Given the description of an element on the screen output the (x, y) to click on. 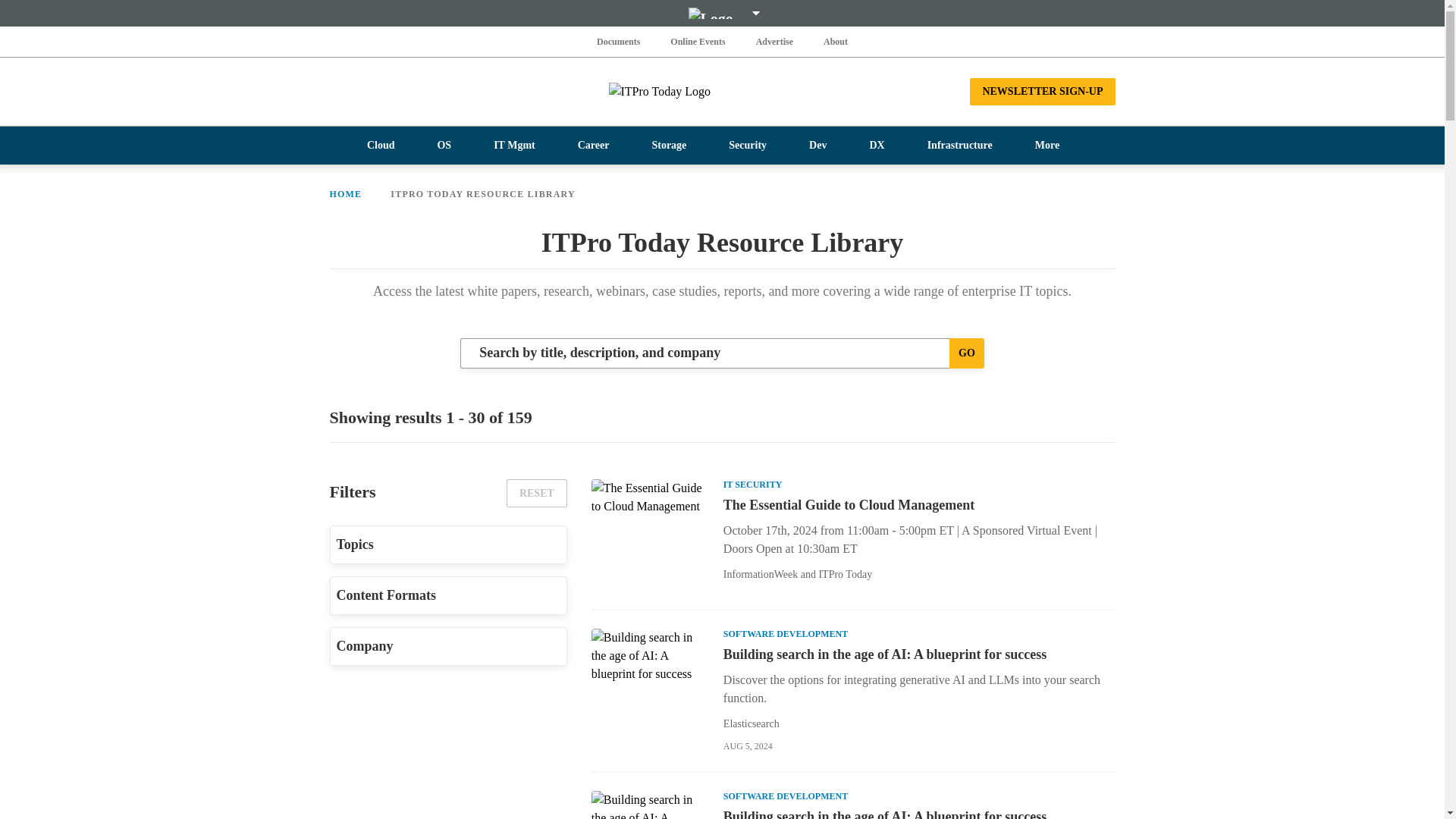
NEWSLETTER SIGN-UP (1042, 90)
ITPro Today Logo (721, 91)
About (835, 41)
Documents (618, 41)
Online Events (697, 41)
Advertise (774, 41)
